Given the description of an element on the screen output the (x, y) to click on. 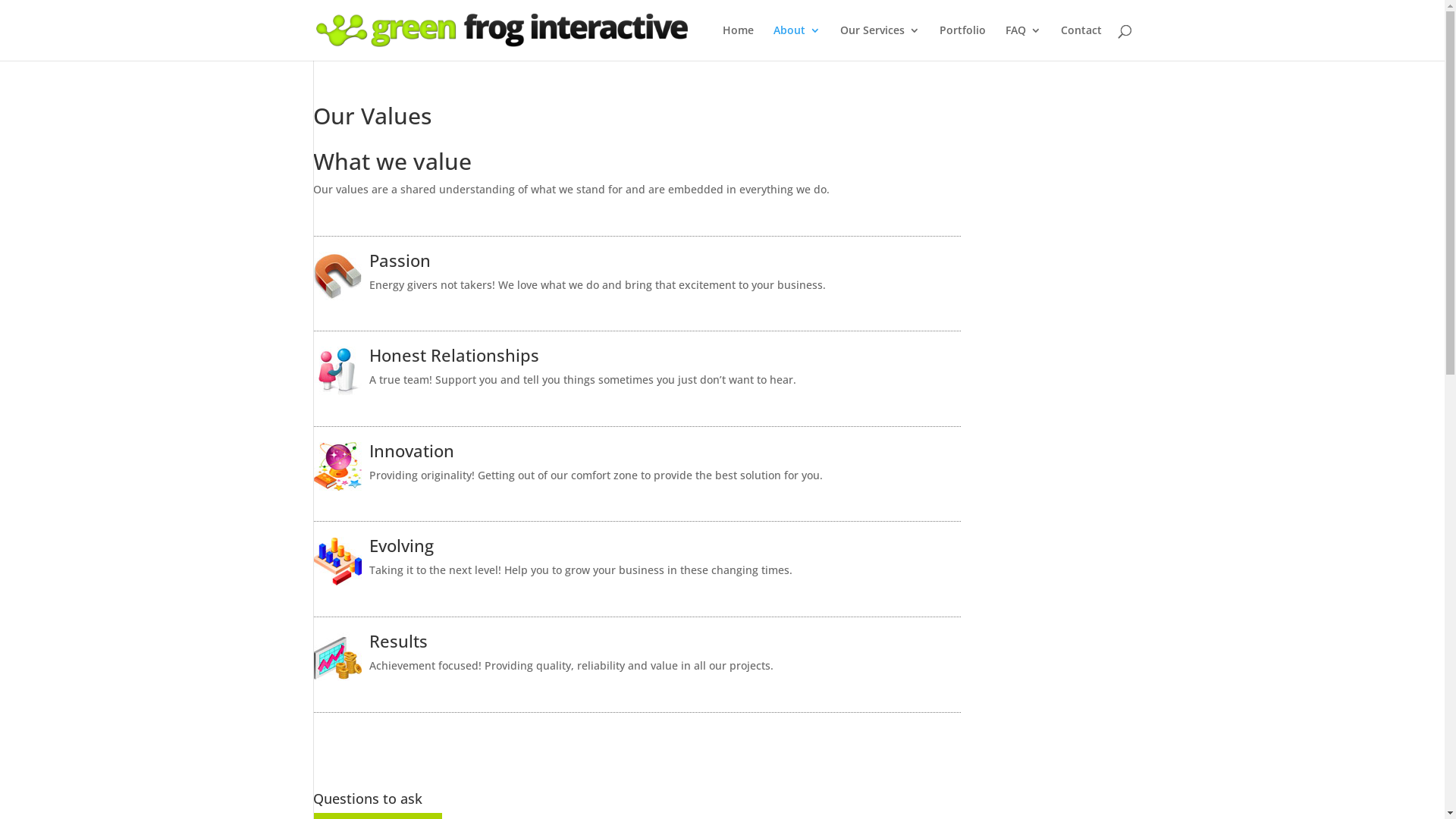
FAQ Element type: text (1023, 42)
About Element type: text (796, 42)
Portfolio Element type: text (961, 42)
Our Services Element type: text (879, 42)
Home Element type: text (737, 42)
Contact Element type: text (1080, 42)
